Given the description of an element on the screen output the (x, y) to click on. 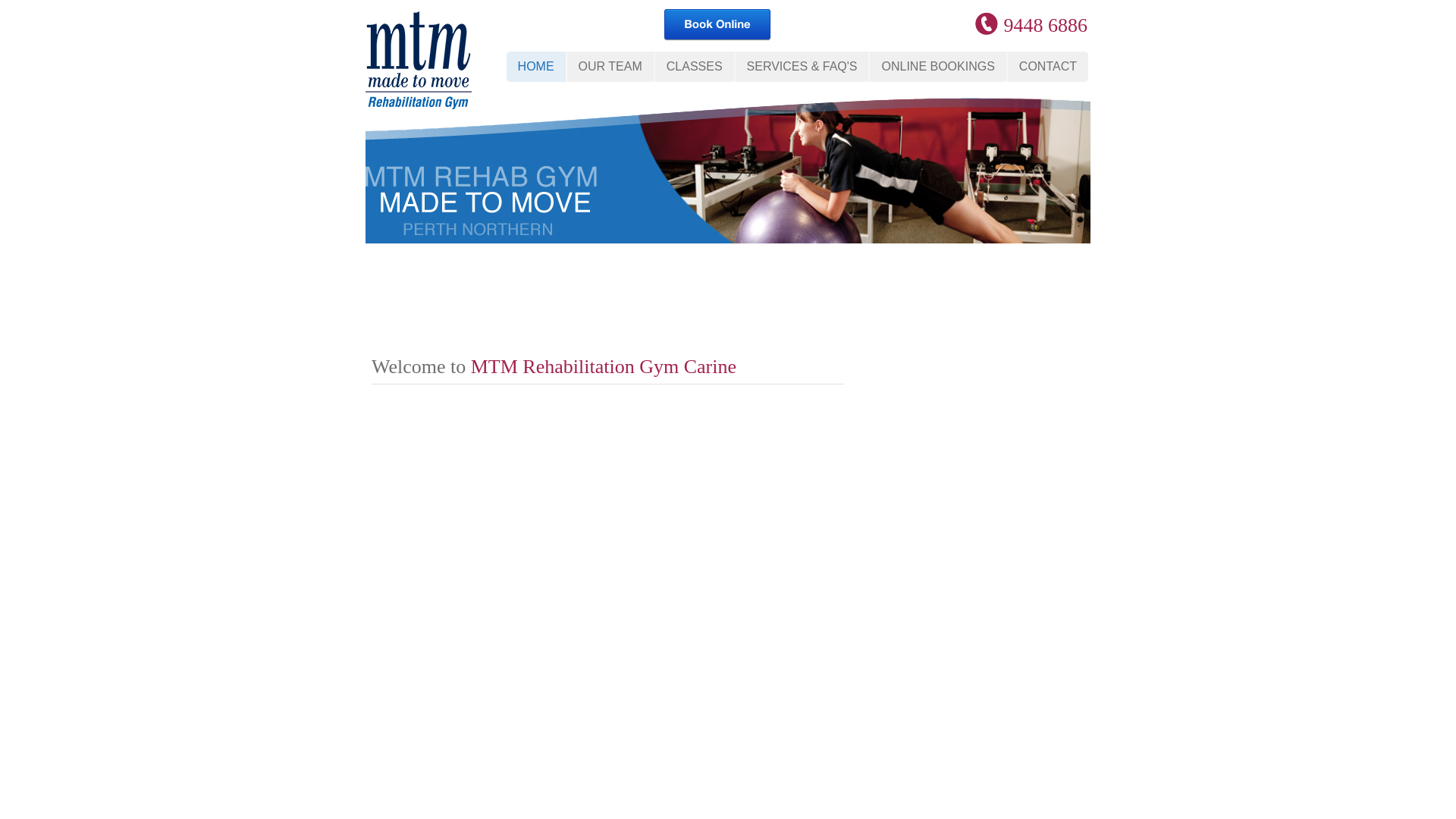
You Tube (923, 24)
linked in (861, 24)
ONLINE BOOKINGS (937, 66)
CONTACT (1047, 66)
HOME (536, 66)
CLASSES (694, 66)
Telephone Number (989, 23)
OUR TEAM (609, 66)
Twitter (831, 24)
